Given the description of an element on the screen output the (x, y) to click on. 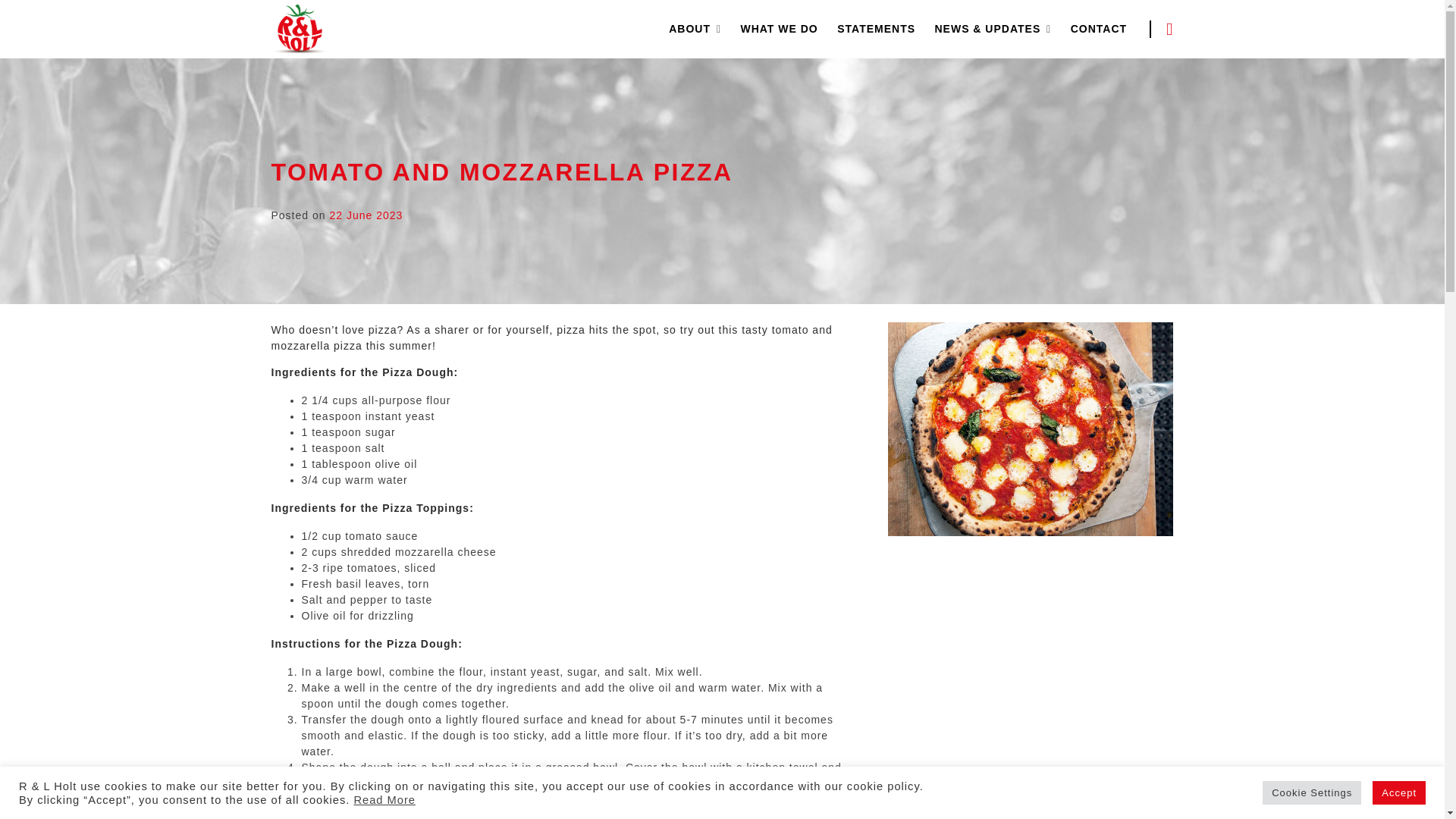
ABOUT (689, 29)
22 June 2023 (366, 215)
WHAT WE DO (777, 29)
STATEMENTS (876, 29)
CONTACT (1098, 29)
